Given the description of an element on the screen output the (x, y) to click on. 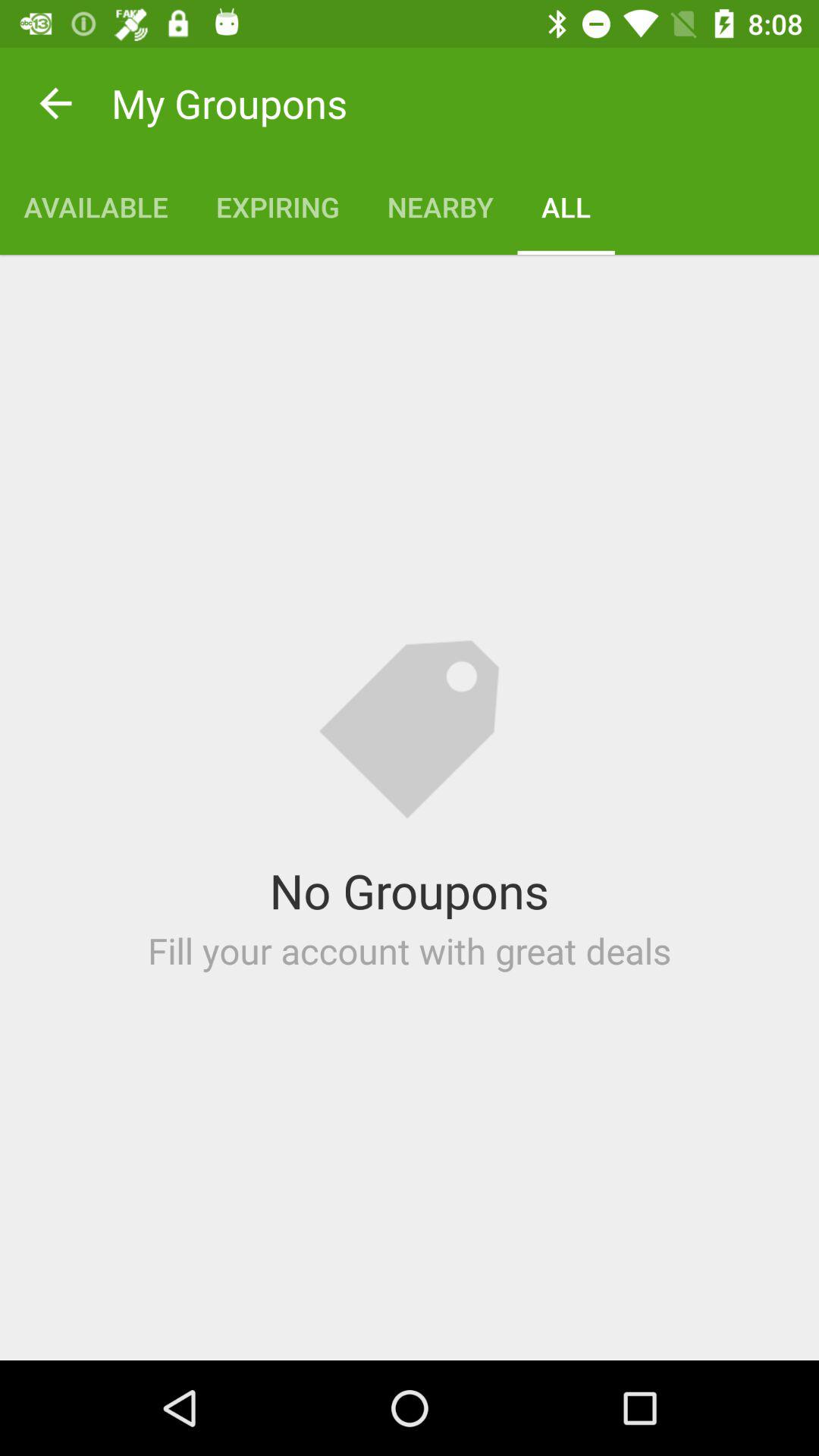
turn on item next to the my groupons (55, 103)
